Given the description of an element on the screen output the (x, y) to click on. 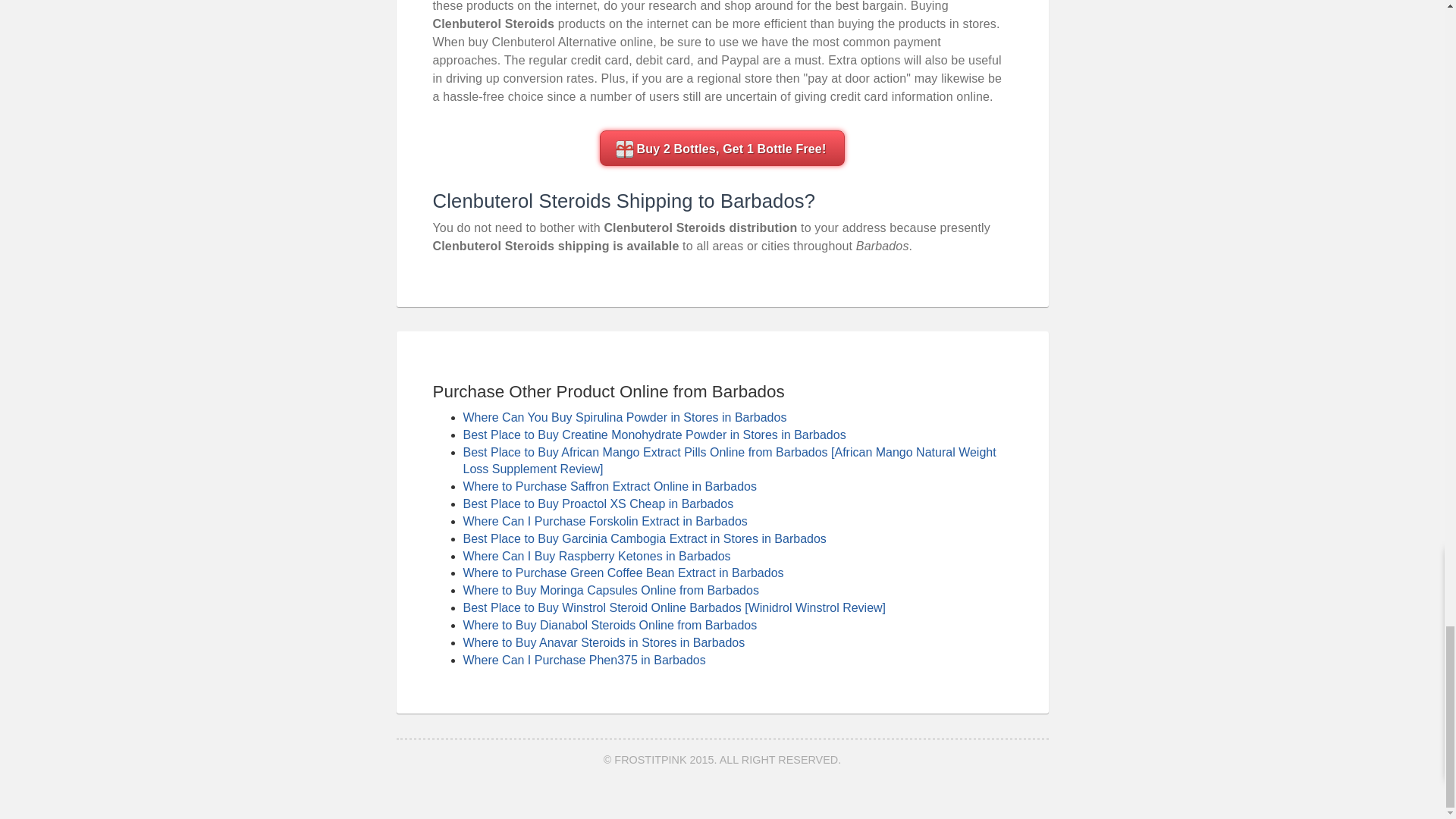
Where Can You Buy Spirulina Powder in Stores in Barbados (624, 417)
Where to Purchase Green Coffee Bean Extract in Barbados (623, 572)
Where to Buy Dianabol Steroids Online from Barbados (610, 625)
Where to Purchase Green Coffee Bean Extract in Barbados (623, 572)
Where Can I Purchase Forskolin Extract in Barbados (604, 521)
Where to Purchase Saffron Extract Online in Barbados (609, 486)
Where to Buy Moringa Capsules Online from Barbados (610, 590)
Where Can I Buy Raspberry Ketones in Barbados (596, 555)
